Given the description of an element on the screen output the (x, y) to click on. 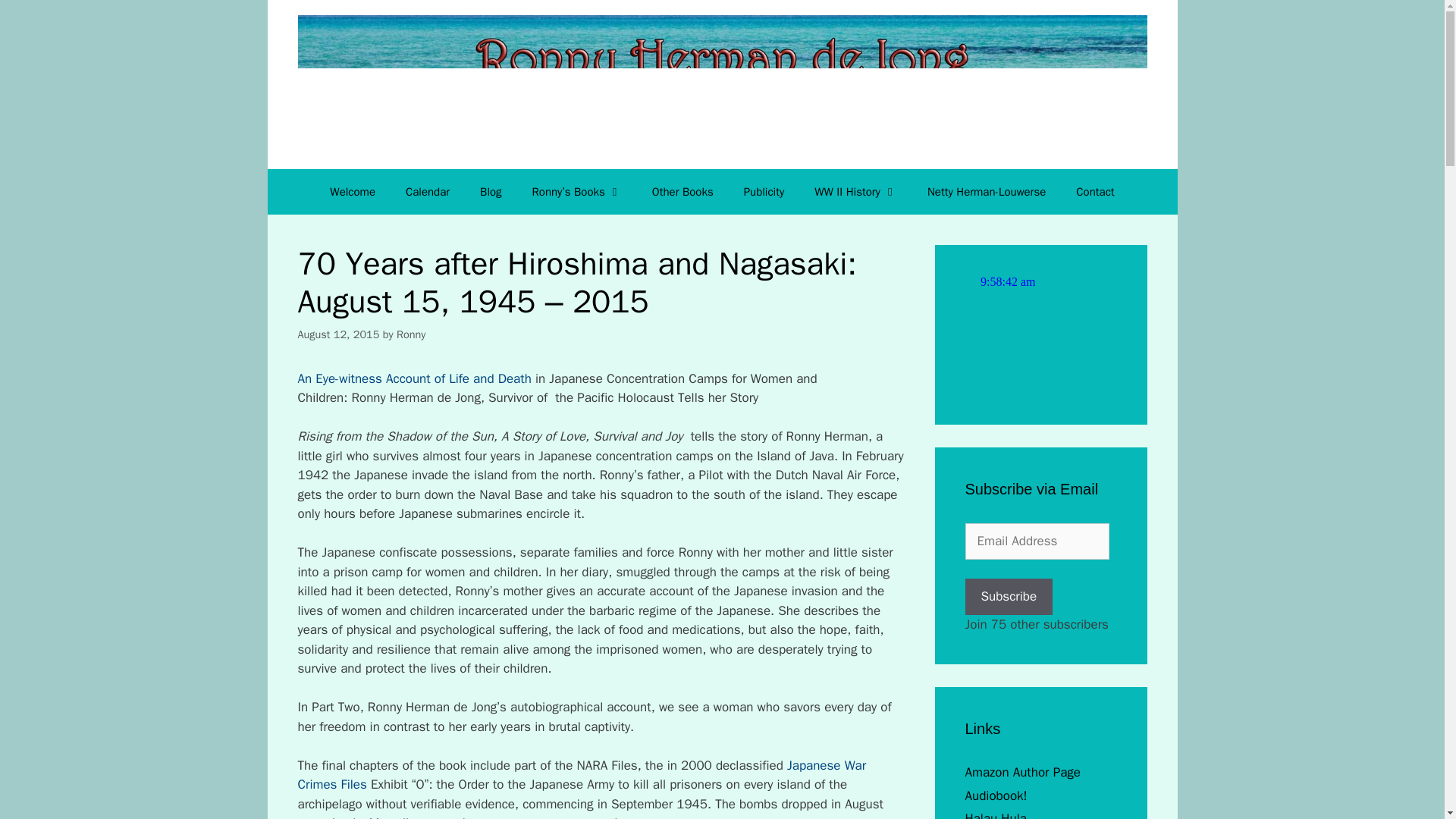
Netty Herman-Louwerse (986, 191)
WW II History (855, 191)
View all posts by Ronny (410, 334)
Contact (1095, 191)
Calendar (427, 191)
An Eye-witness Account of Life and Death (414, 378)
Other Books (683, 191)
Ronny (410, 334)
Blog (490, 191)
Japanese War Crimes Files (581, 775)
